Given the description of an element on the screen output the (x, y) to click on. 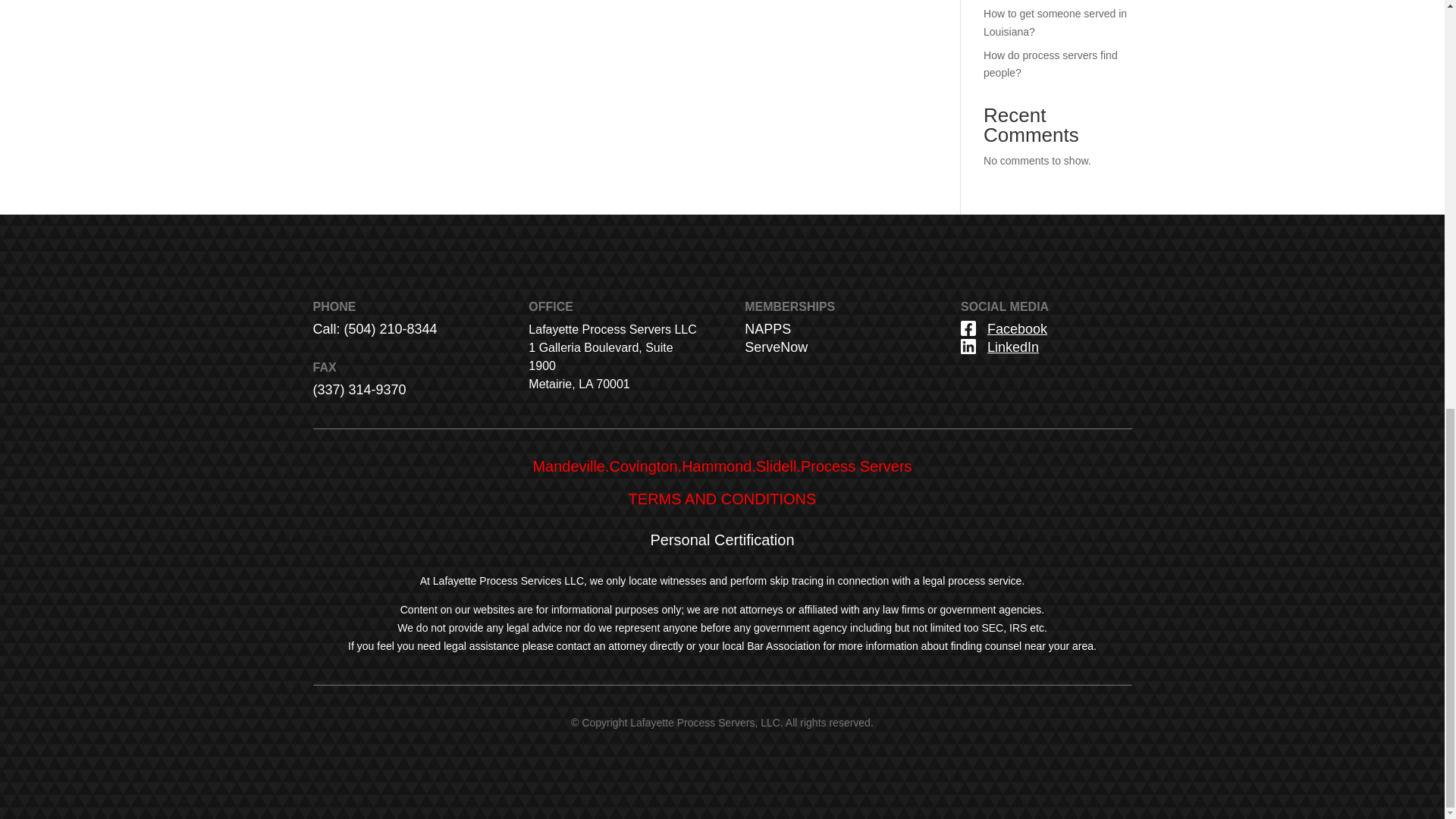
Lafayette Process Servers, LLC (705, 722)
Mandeville.Covington.Hammond.Slidell.Process Servers (721, 466)
TERMS AND CONDITIONS (722, 498)
How do process servers find people? (1051, 64)
How to get someone served in Louisiana? (1055, 22)
LinkedIn (1013, 346)
Facebook (1016, 328)
